Given the description of an element on the screen output the (x, y) to click on. 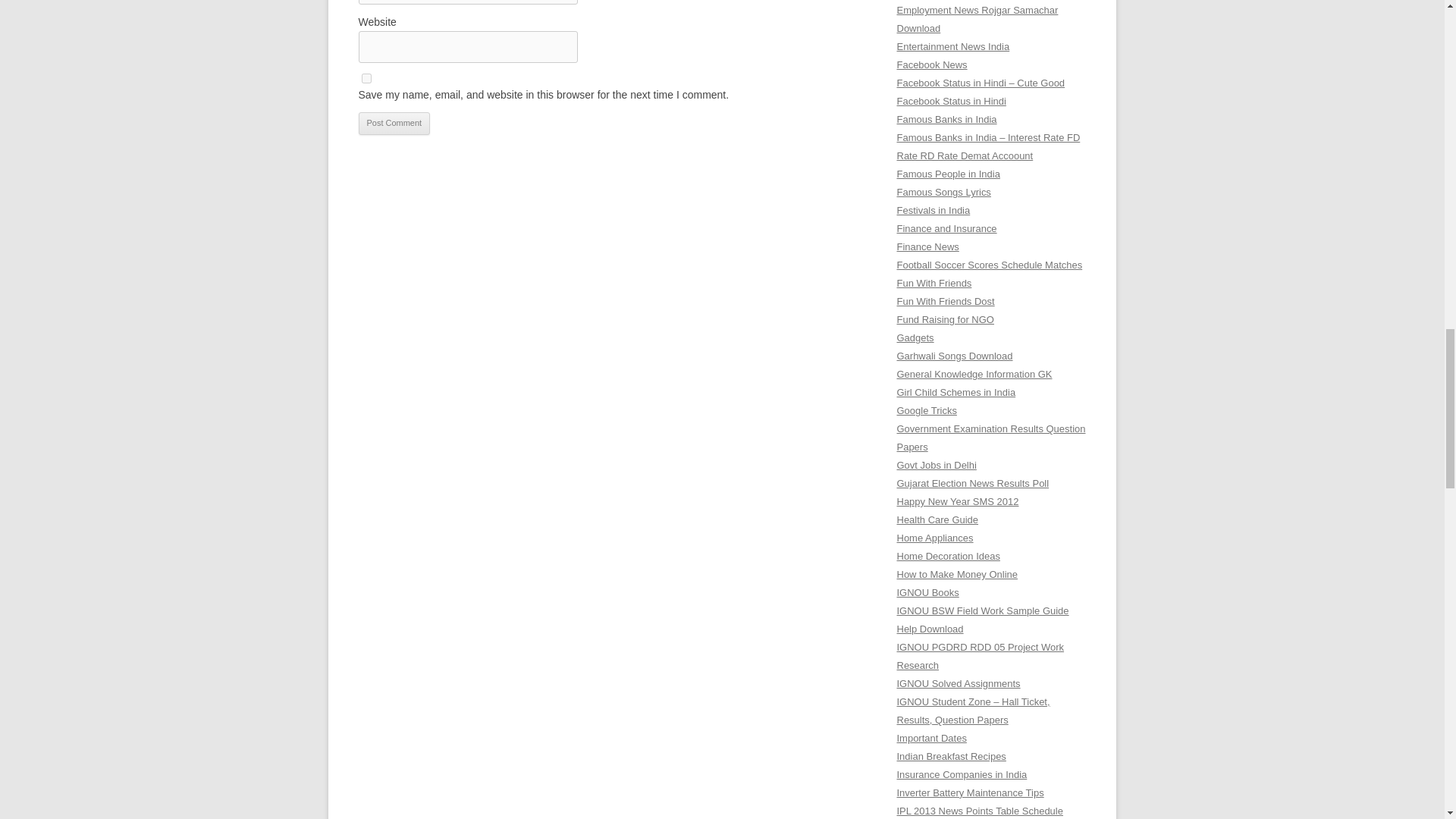
yes (366, 78)
Post Comment (393, 123)
Post Comment (393, 123)
